Given the description of an element on the screen output the (x, y) to click on. 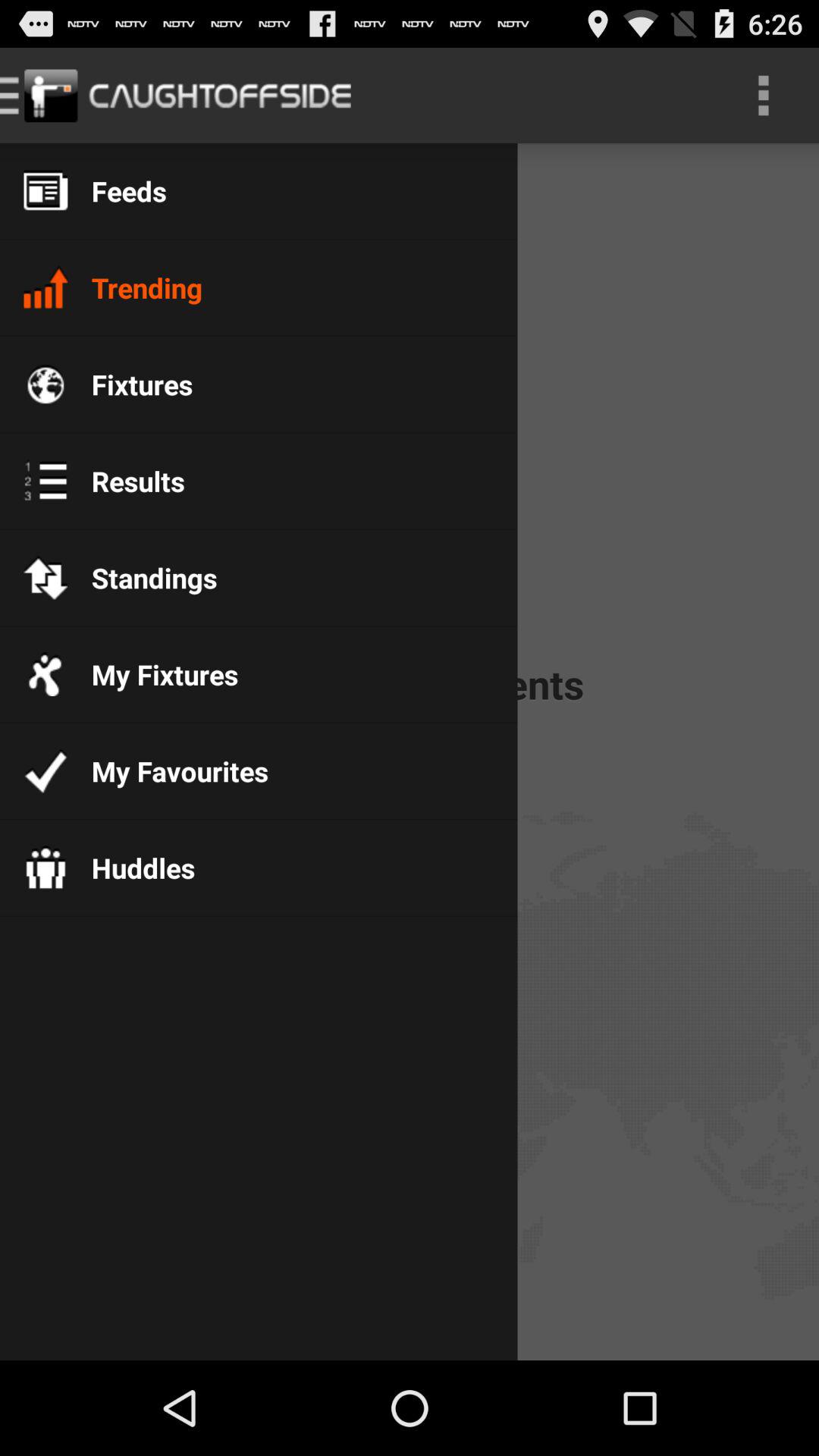
jump to the my favourites item (167, 770)
